Given the description of an element on the screen output the (x, y) to click on. 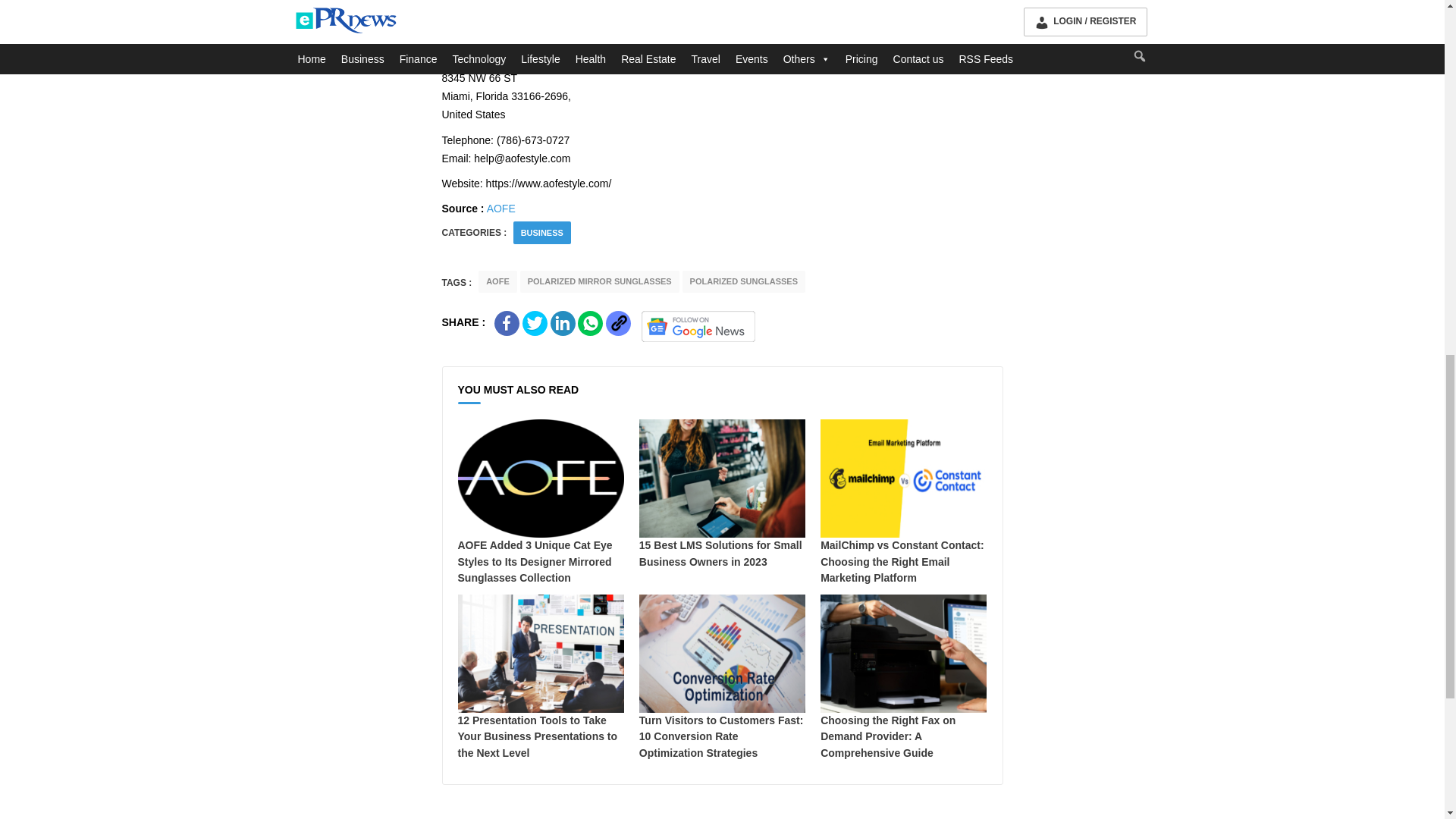
Share on Whatsapp (590, 323)
POLARIZED SUNGLASSES (743, 281)
Share on Twitter (534, 323)
BUSINESS (542, 232)
AOFE (497, 281)
AOFE (500, 208)
Share on Linkedin (562, 323)
Copy Link (617, 323)
POLARIZED MIRROR SUNGLASSES (599, 281)
Share on Facebook (507, 323)
